Given the description of an element on the screen output the (x, y) to click on. 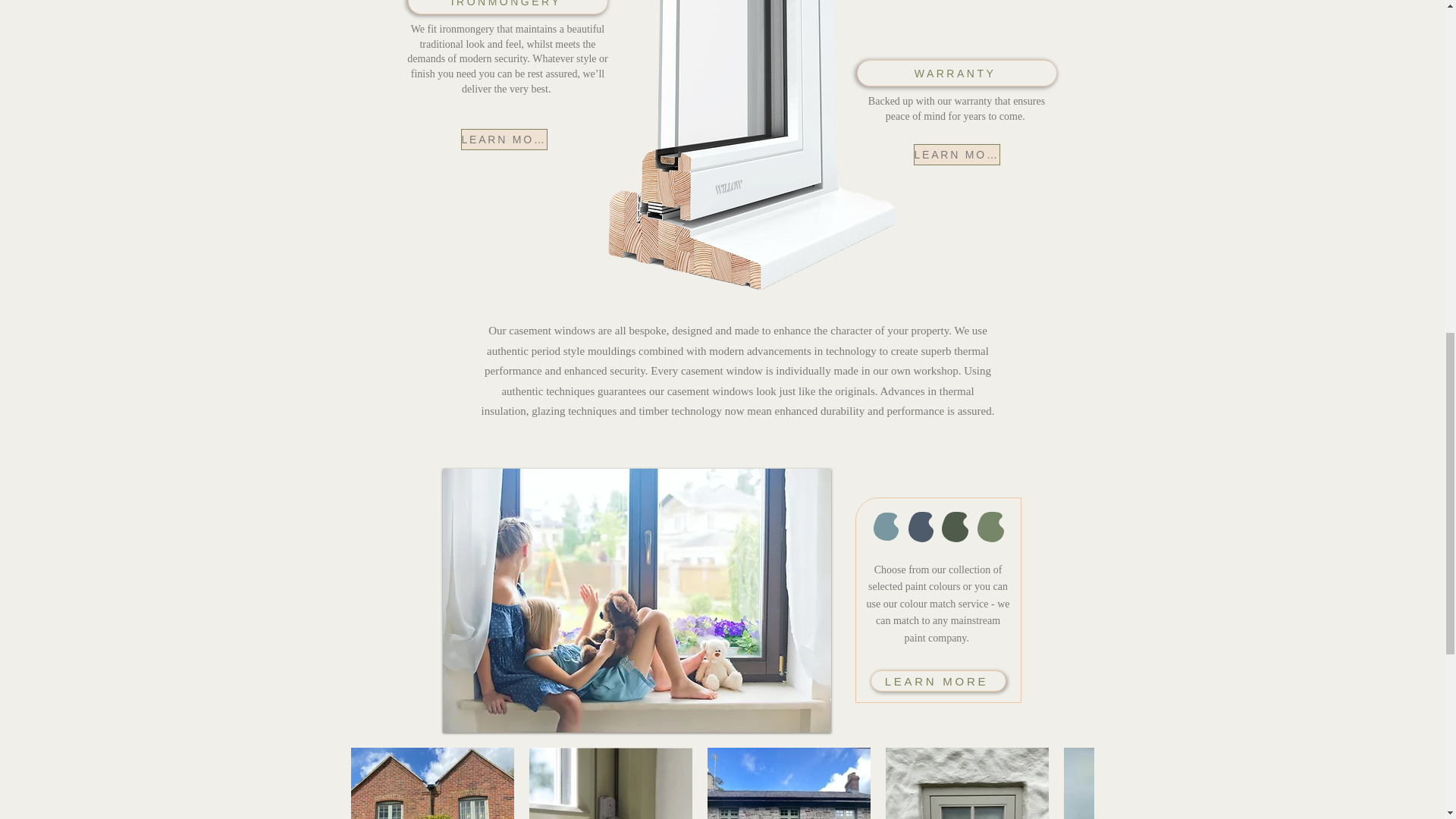
WARRANTY (957, 72)
LEARN MORE (955, 154)
IRONMONGERY (507, 7)
LEARN MORE (938, 680)
LEARN MORE (504, 138)
